Given the description of an element on the screen output the (x, y) to click on. 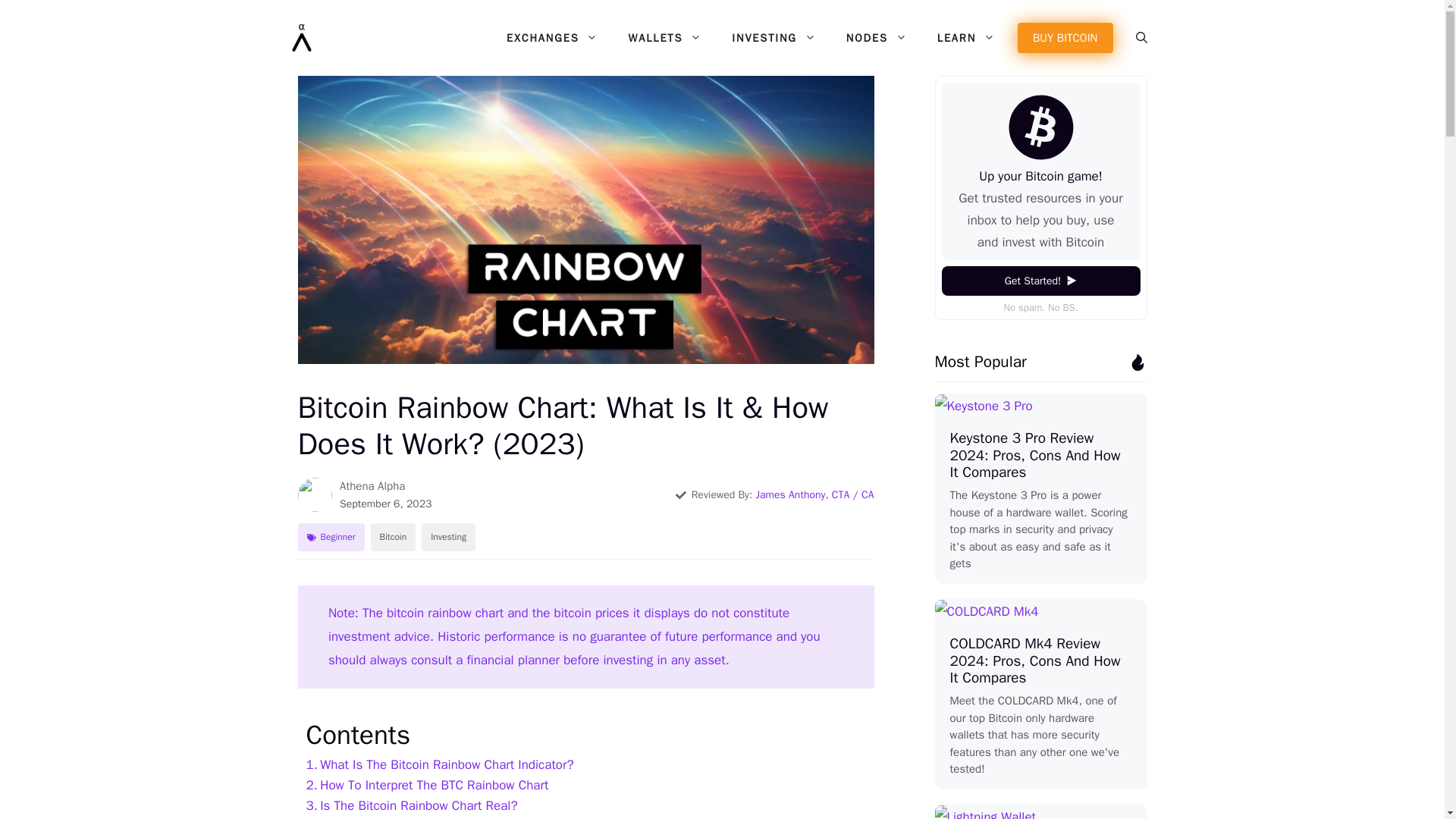
What Is The Bitcoin Rainbow Chart Indicator? (439, 764)
Is The Bitcoin Rainbow Chart Real? (411, 805)
EXCHANGES (552, 37)
WALLETS (664, 37)
INVESTING (772, 37)
BTC Rainbow Chart Highlights (396, 817)
How To Interpret The BTC Rainbow Chart (426, 784)
